Given the description of an element on the screen output the (x, y) to click on. 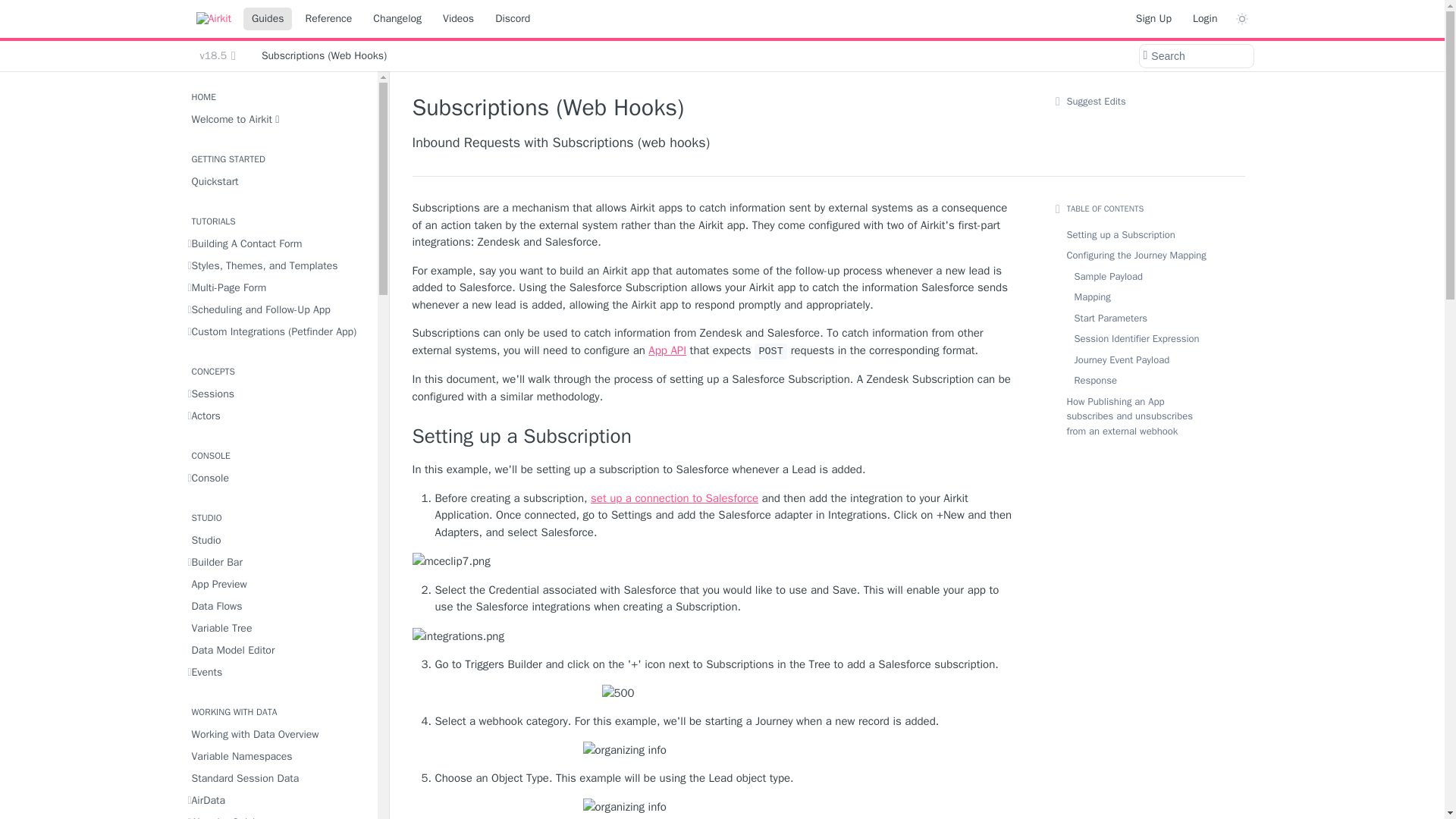
Changelog (397, 18)
Videos (457, 18)
Styles, Themes, and Templates (277, 265)
v18.5 (216, 56)
Reference (328, 18)
Building A Contact Form (277, 243)
Setting up a Subscription (715, 437)
Login (1205, 18)
Sign Up (1152, 18)
Discord (512, 18)
Guides (267, 18)
Search (1195, 56)
Suscriptions1.png (715, 692)
Quickstart (277, 181)
